Given the description of an element on the screen output the (x, y) to click on. 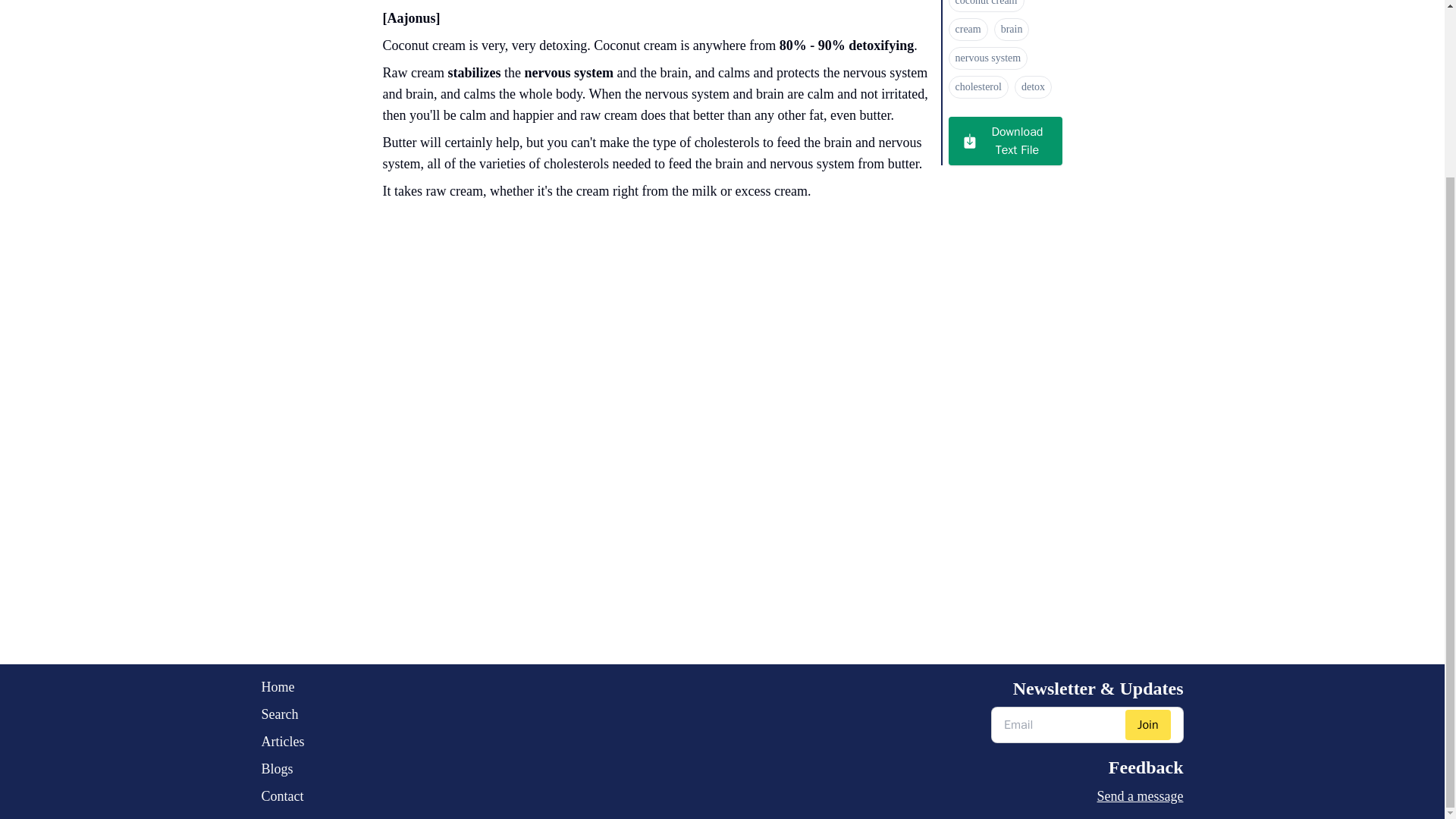
Download Text File (1004, 141)
Send a message (1086, 795)
Contact (282, 795)
Search (282, 713)
Join (1147, 725)
Blogs (282, 768)
Articles (282, 741)
Home (282, 686)
